Given the description of an element on the screen output the (x, y) to click on. 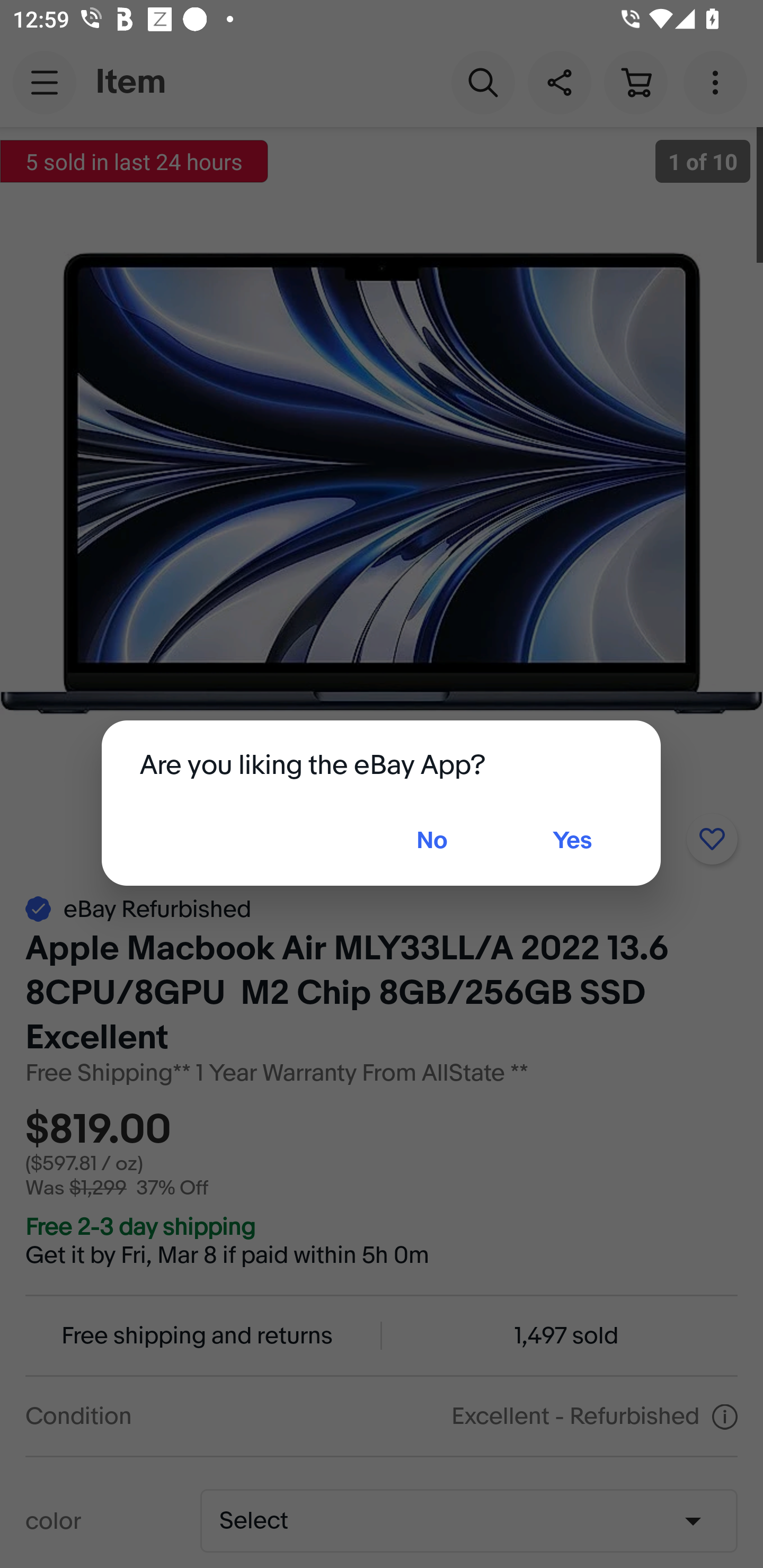
No (431, 840)
Yes (571, 840)
